Given the description of an element on the screen output the (x, y) to click on. 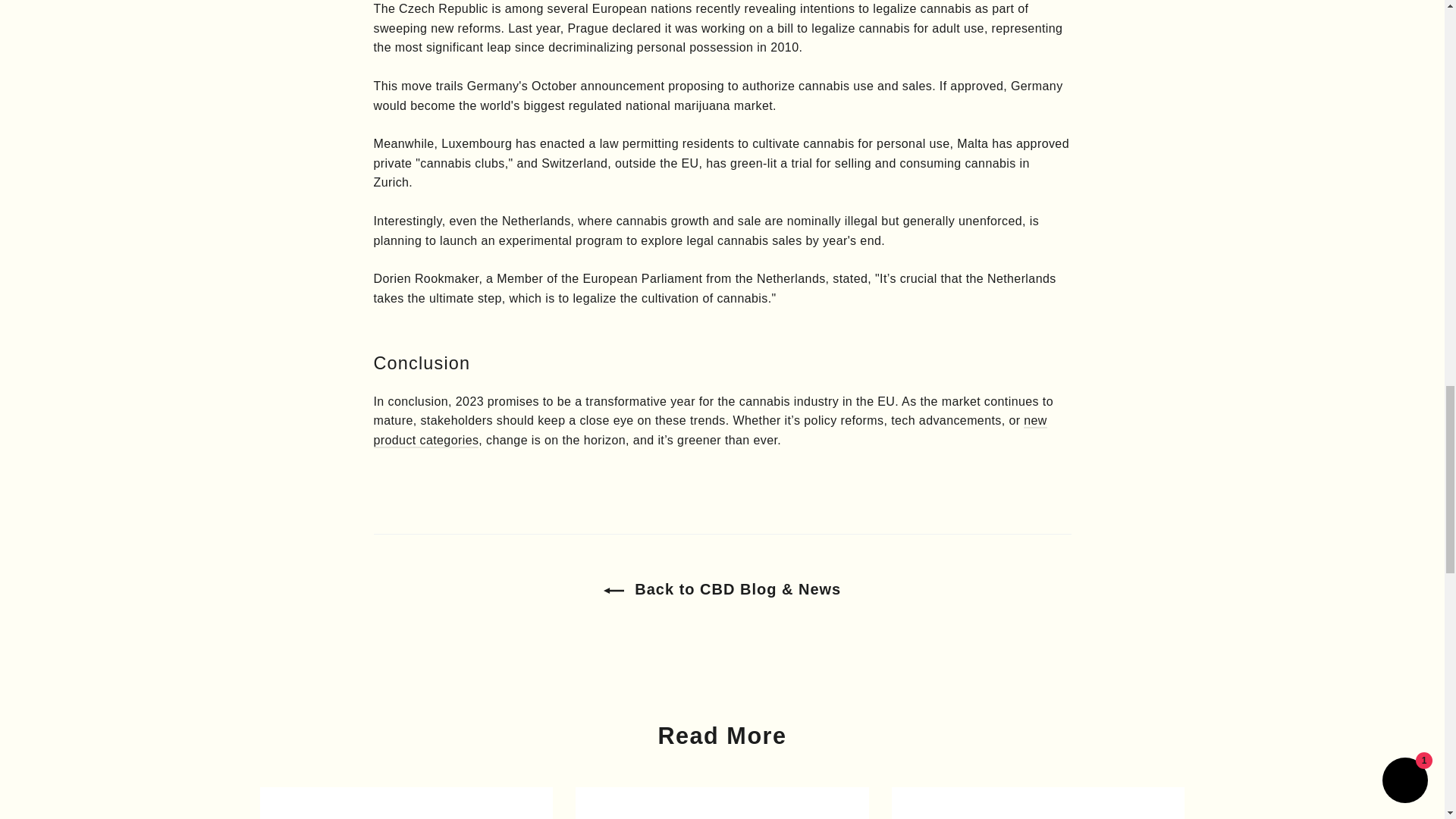
icon-left-arrow (614, 590)
Buy CBD Products - Nine Realms (709, 430)
